Given the description of an element on the screen output the (x, y) to click on. 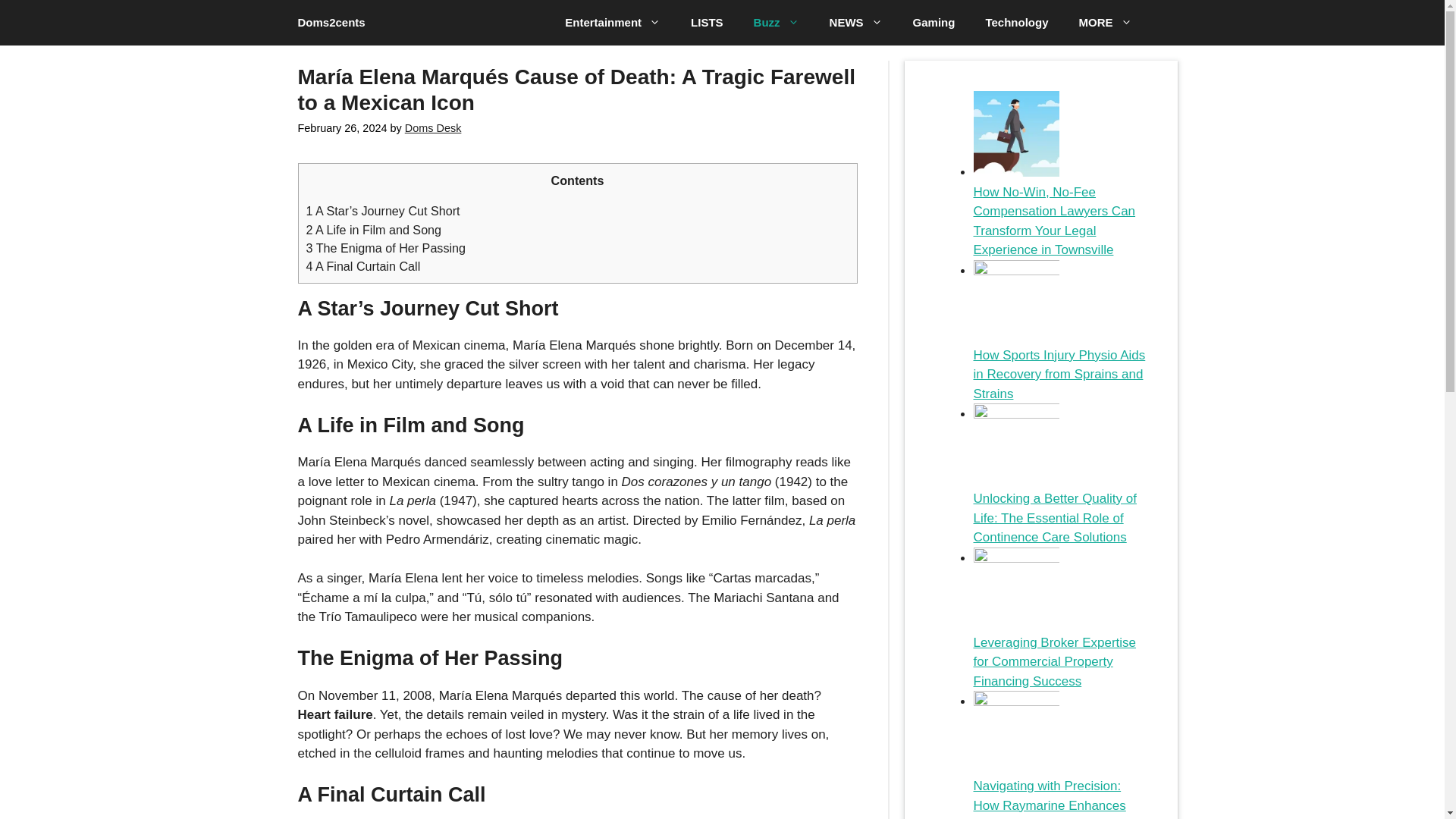
Technology (1015, 22)
LISTS (706, 22)
MORE (1104, 22)
View all posts by Doms Desk (432, 128)
NEWS (855, 22)
3 The Enigma of Her Passing (385, 247)
Entertainment (612, 22)
Doms Desk (432, 128)
